Given the description of an element on the screen output the (x, y) to click on. 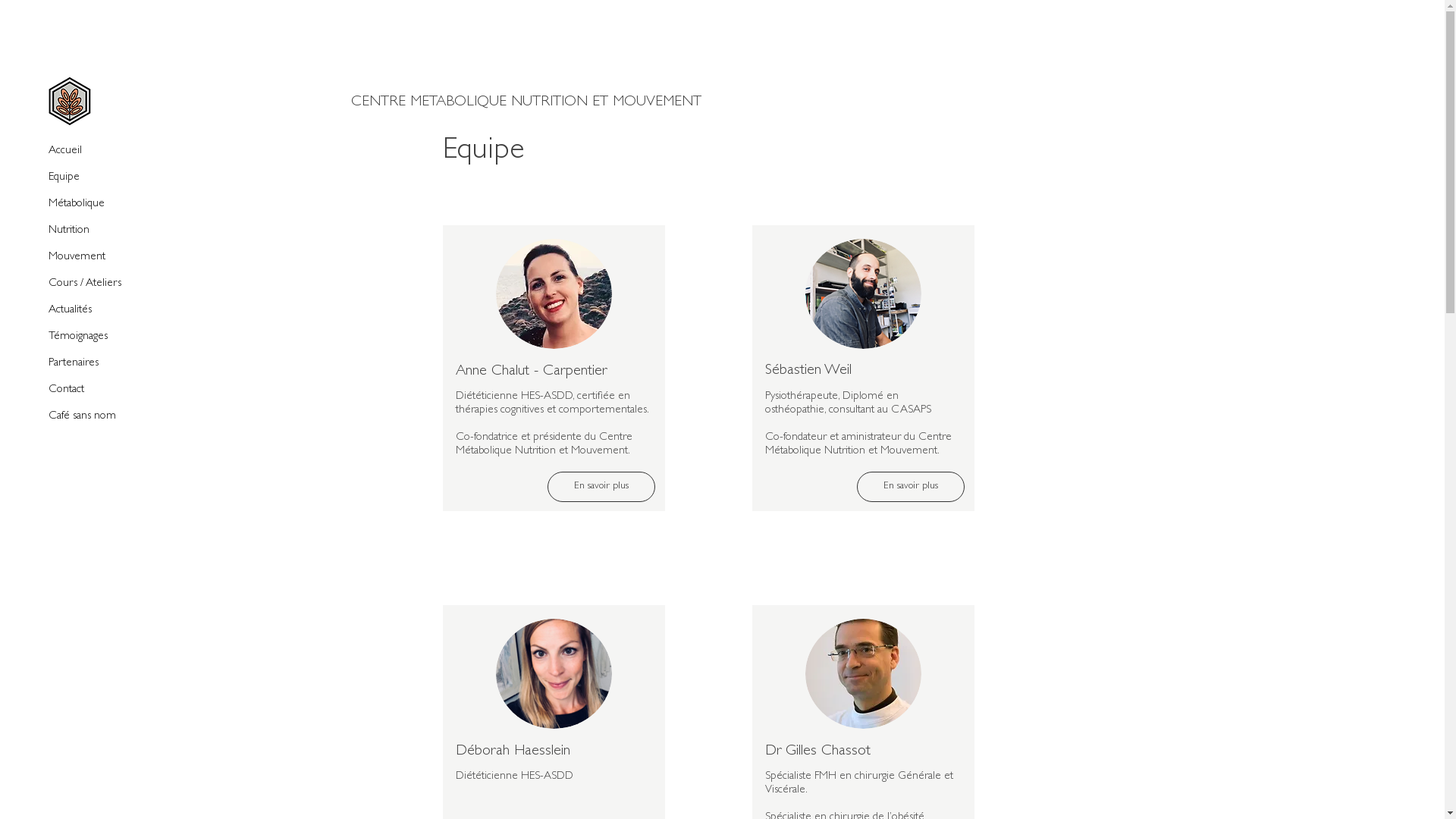
Equipe Element type: text (101, 177)
Mouvement Element type: text (101, 257)
CENTRE METABOLIQUE NUTRITION ET MOUVEMENT Element type: text (607, 102)
Partenaires Element type: text (101, 363)
Nutrition Element type: text (101, 230)
Contact Element type: text (101, 389)
Accueil Element type: text (101, 151)
En savoir plus Element type: text (910, 486)
Cours / Ateliers Element type: text (101, 283)
En savoir plus Element type: text (601, 486)
